Given the description of an element on the screen output the (x, y) to click on. 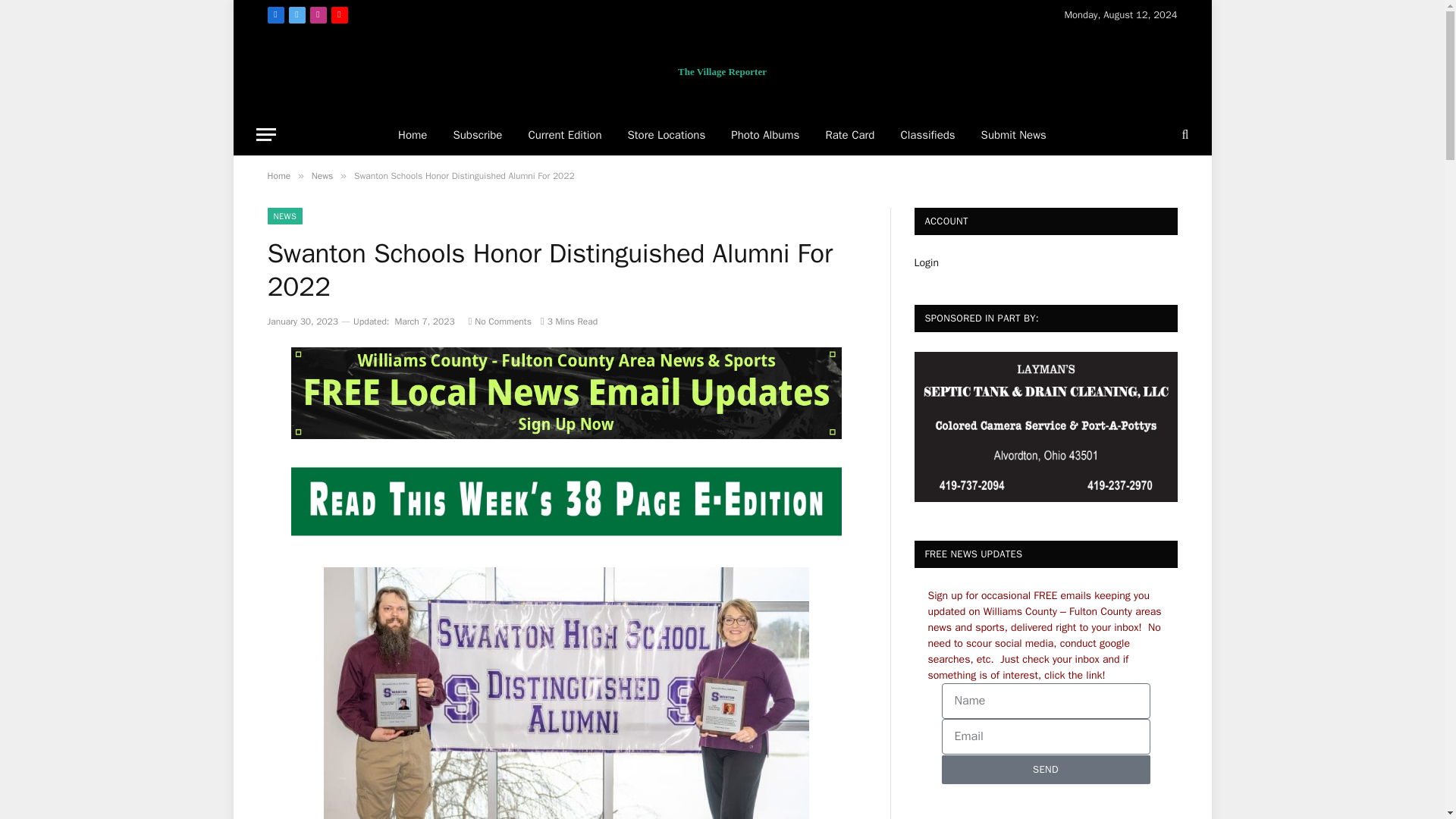
YouTube (338, 14)
Current Edition (564, 134)
Home (412, 134)
Facebook (274, 14)
Home (277, 175)
Submit News (1013, 134)
No Comments (499, 321)
News (322, 175)
Instagram (317, 14)
Subscribe (477, 134)
